Given the description of an element on the screen output the (x, y) to click on. 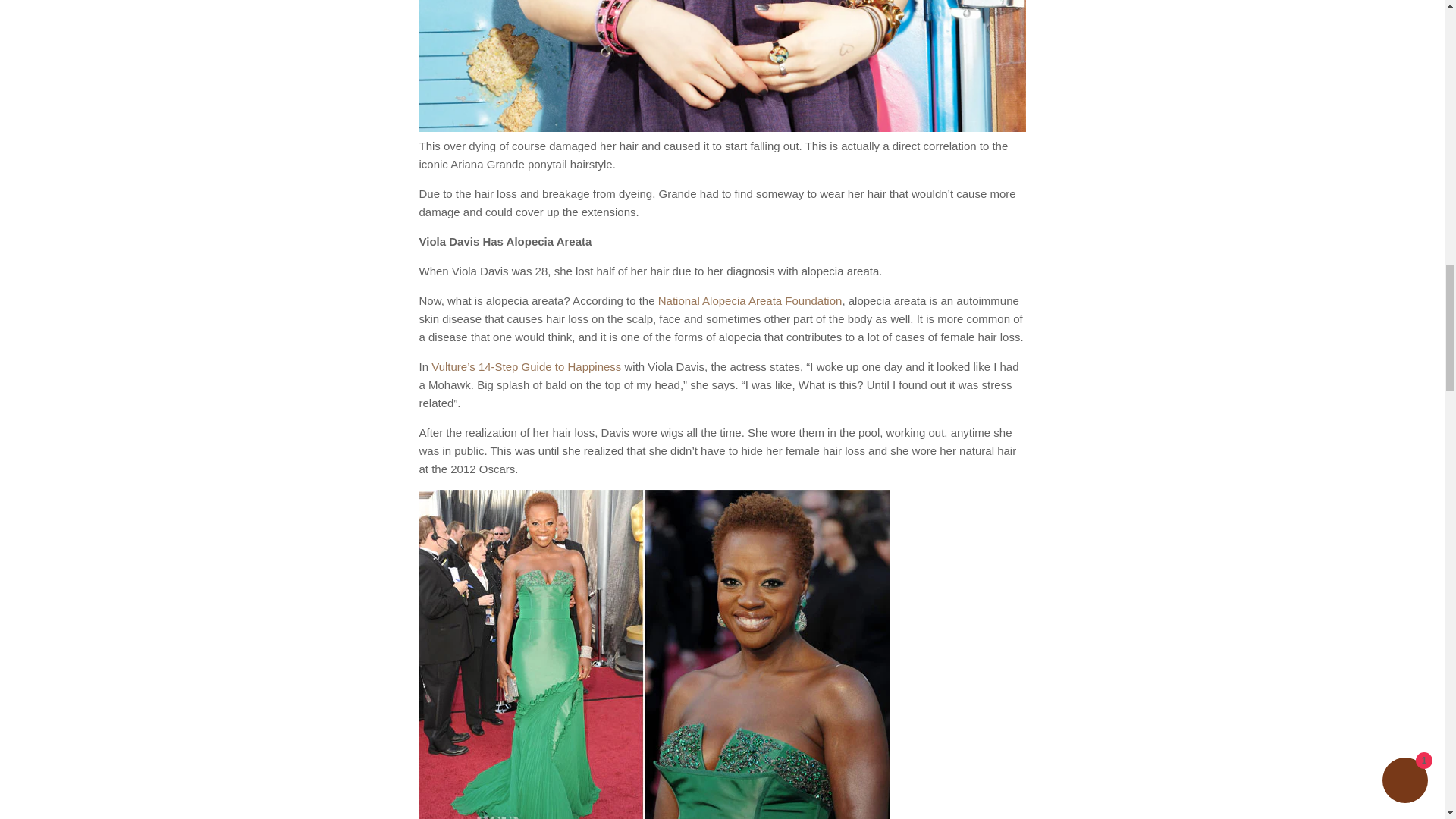
National Alopecia Areata Foundation (750, 300)
